Given the description of an element on the screen output the (x, y) to click on. 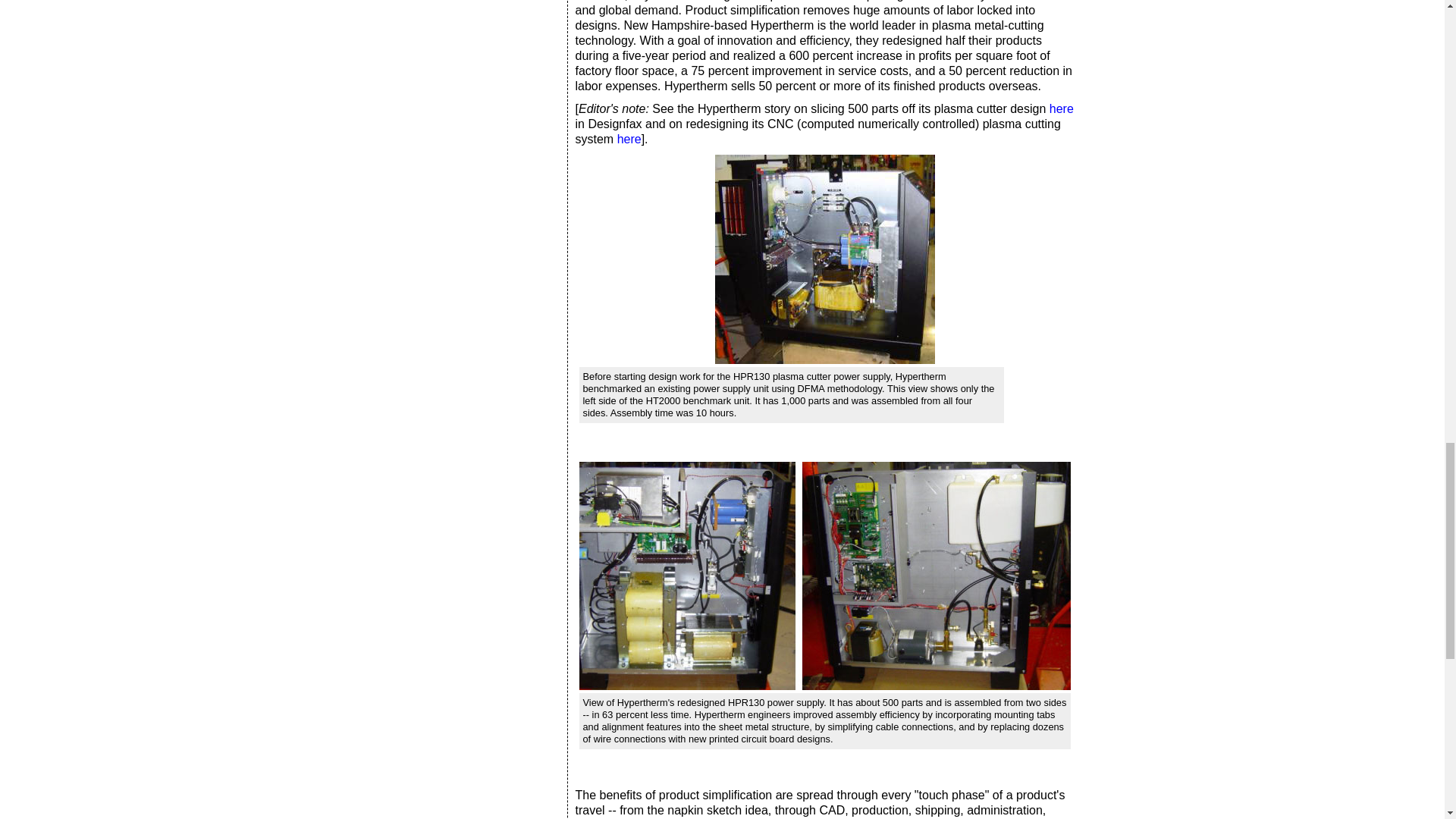
here (629, 138)
here (1061, 108)
